Given the description of an element on the screen output the (x, y) to click on. 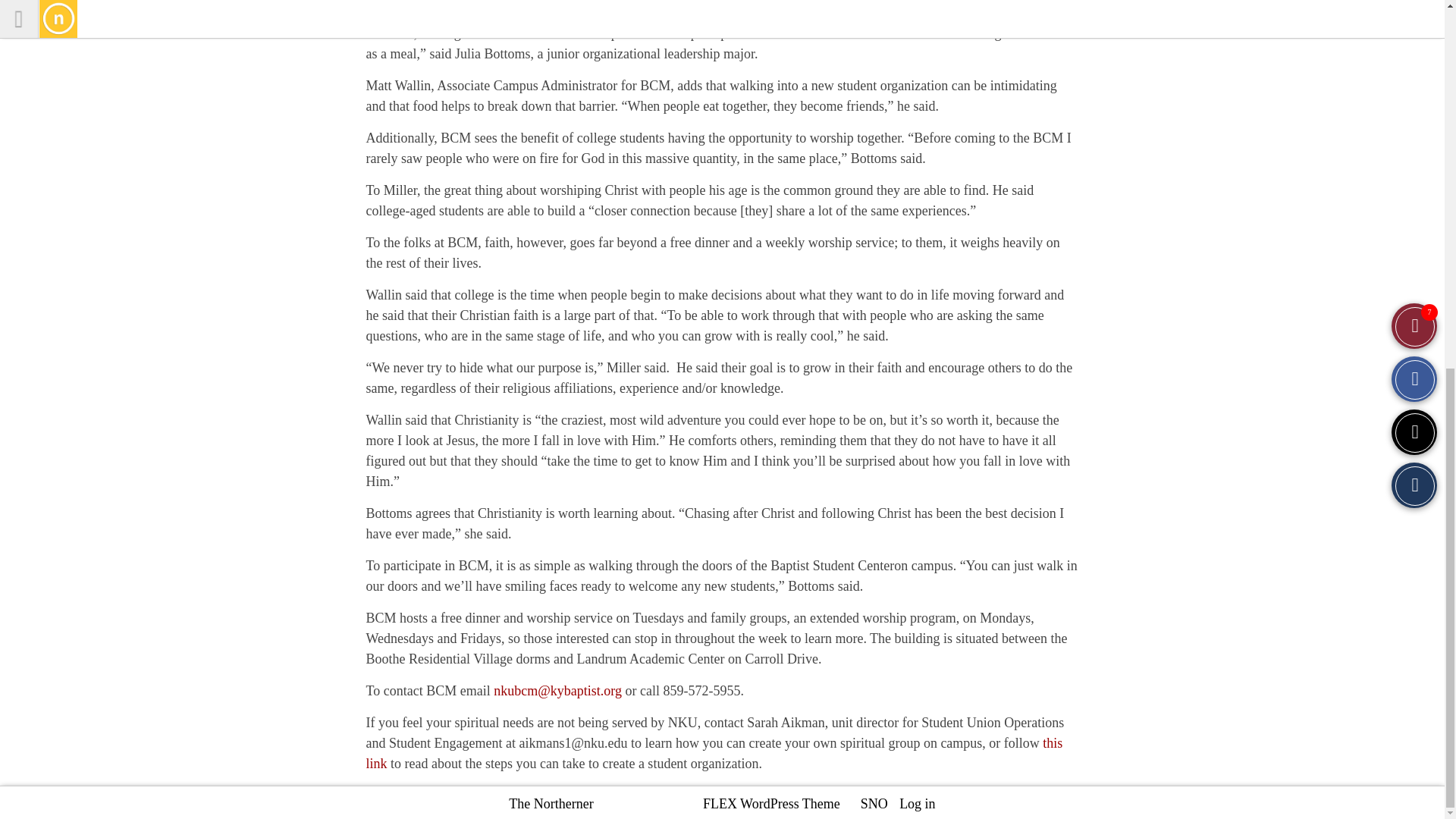
SNO (874, 803)
FLEX WordPress Theme (771, 803)
this link (713, 753)
The Northerner (550, 803)
Log in (917, 803)
